Given the description of an element on the screen output the (x, y) to click on. 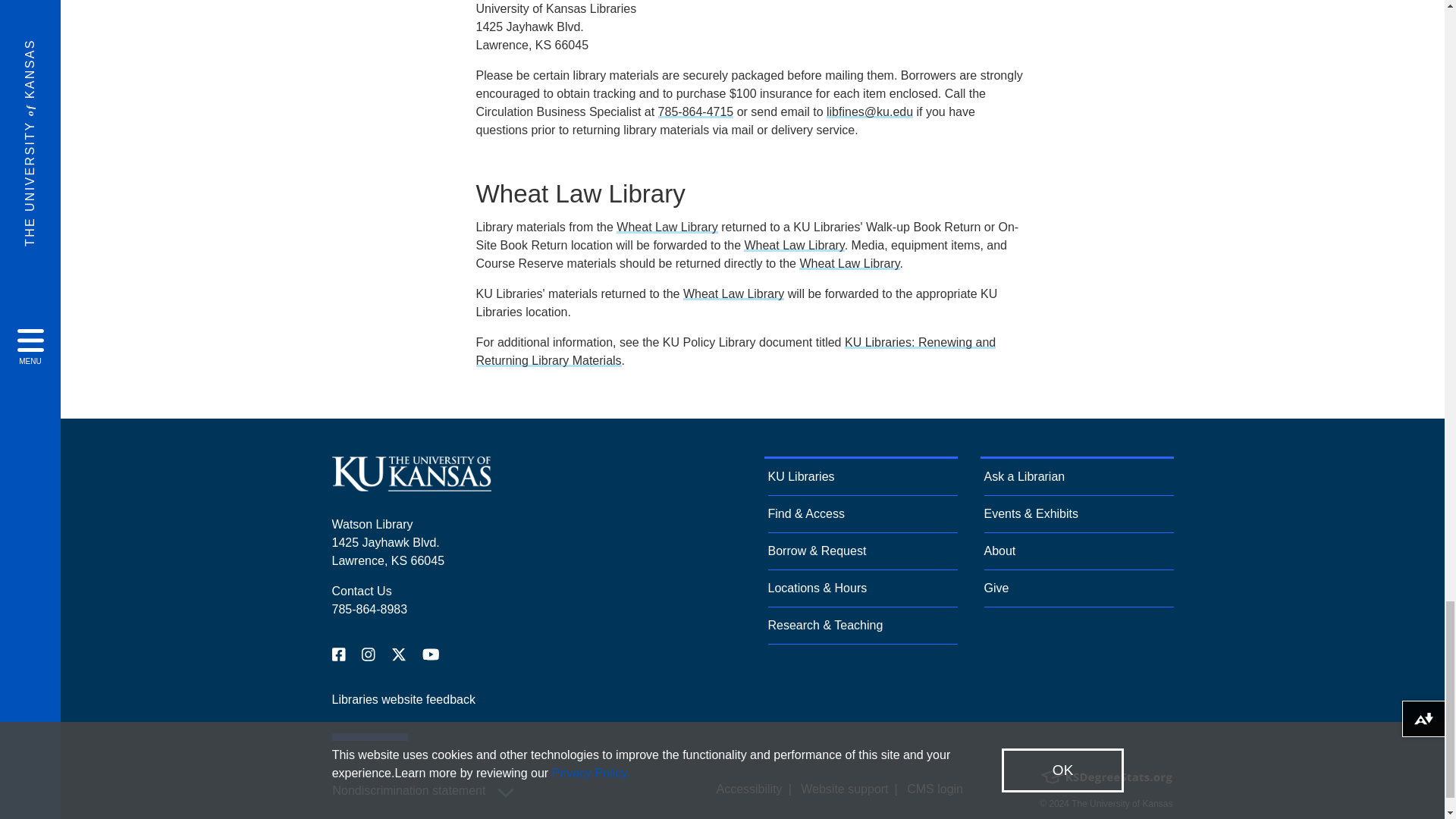
The University of Kansas (411, 484)
